Given the description of an element on the screen output the (x, y) to click on. 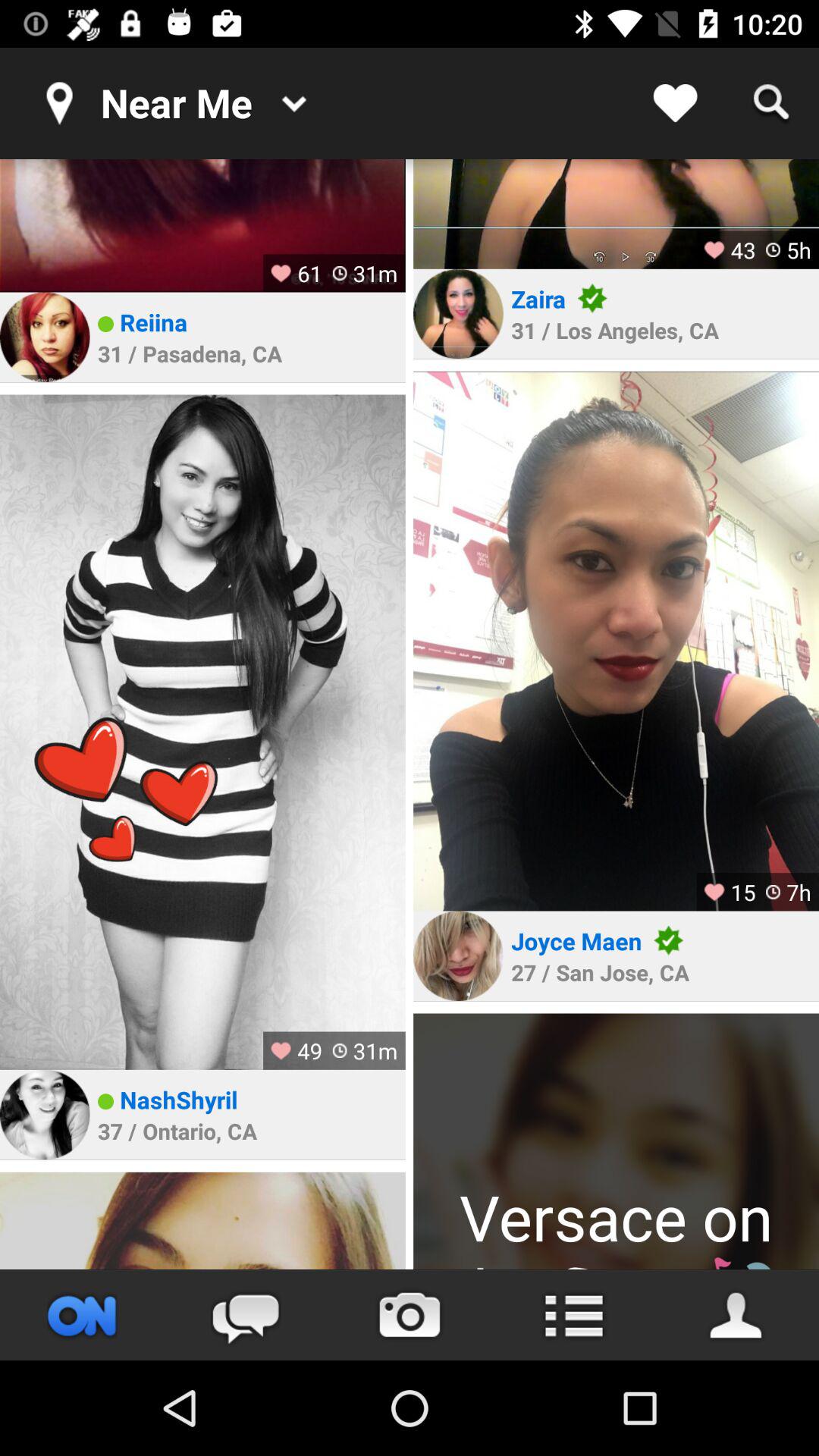
see your profile (737, 1315)
